Given the description of an element on the screen output the (x, y) to click on. 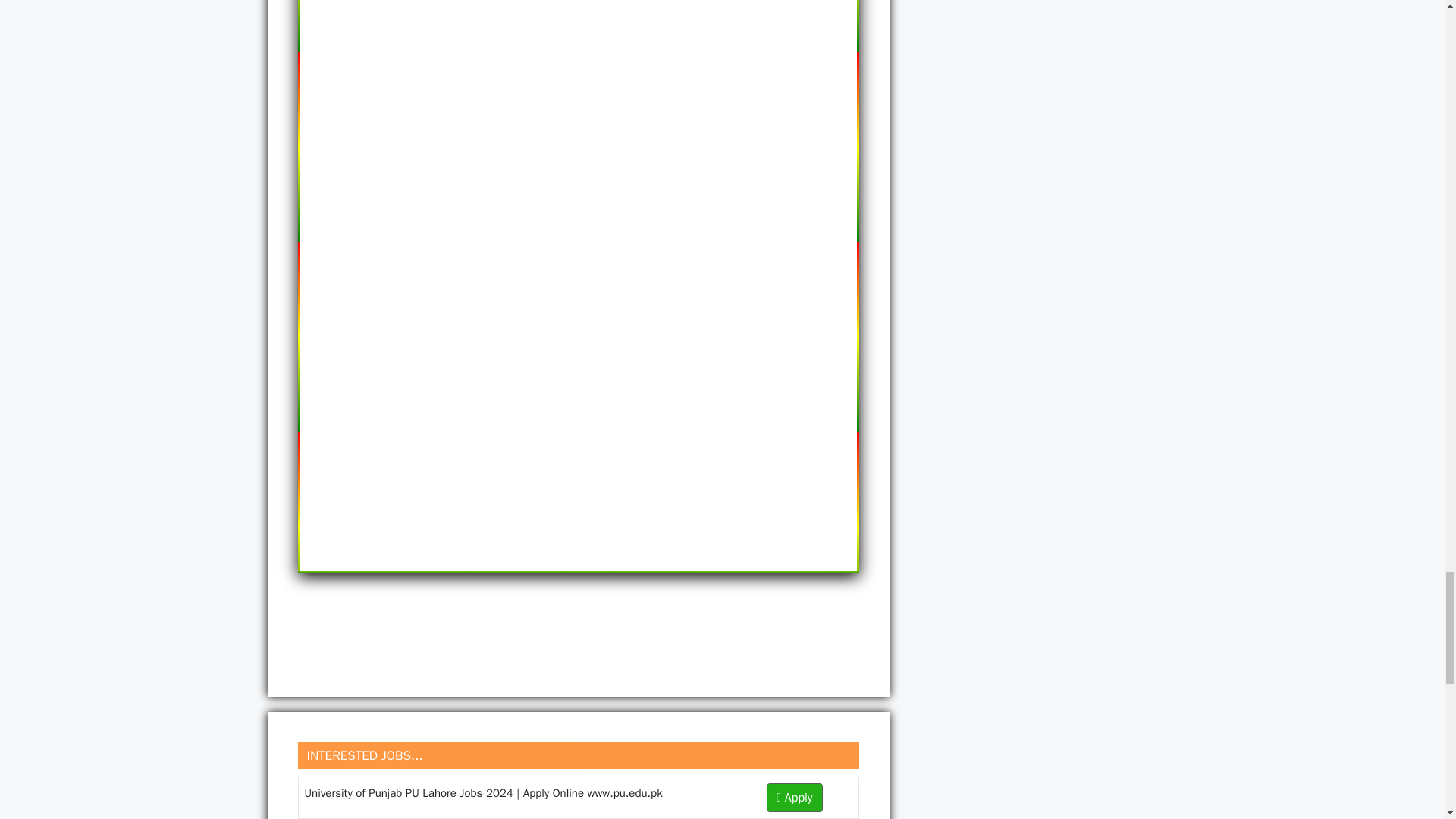
Apply (794, 797)
